Given the description of an element on the screen output the (x, y) to click on. 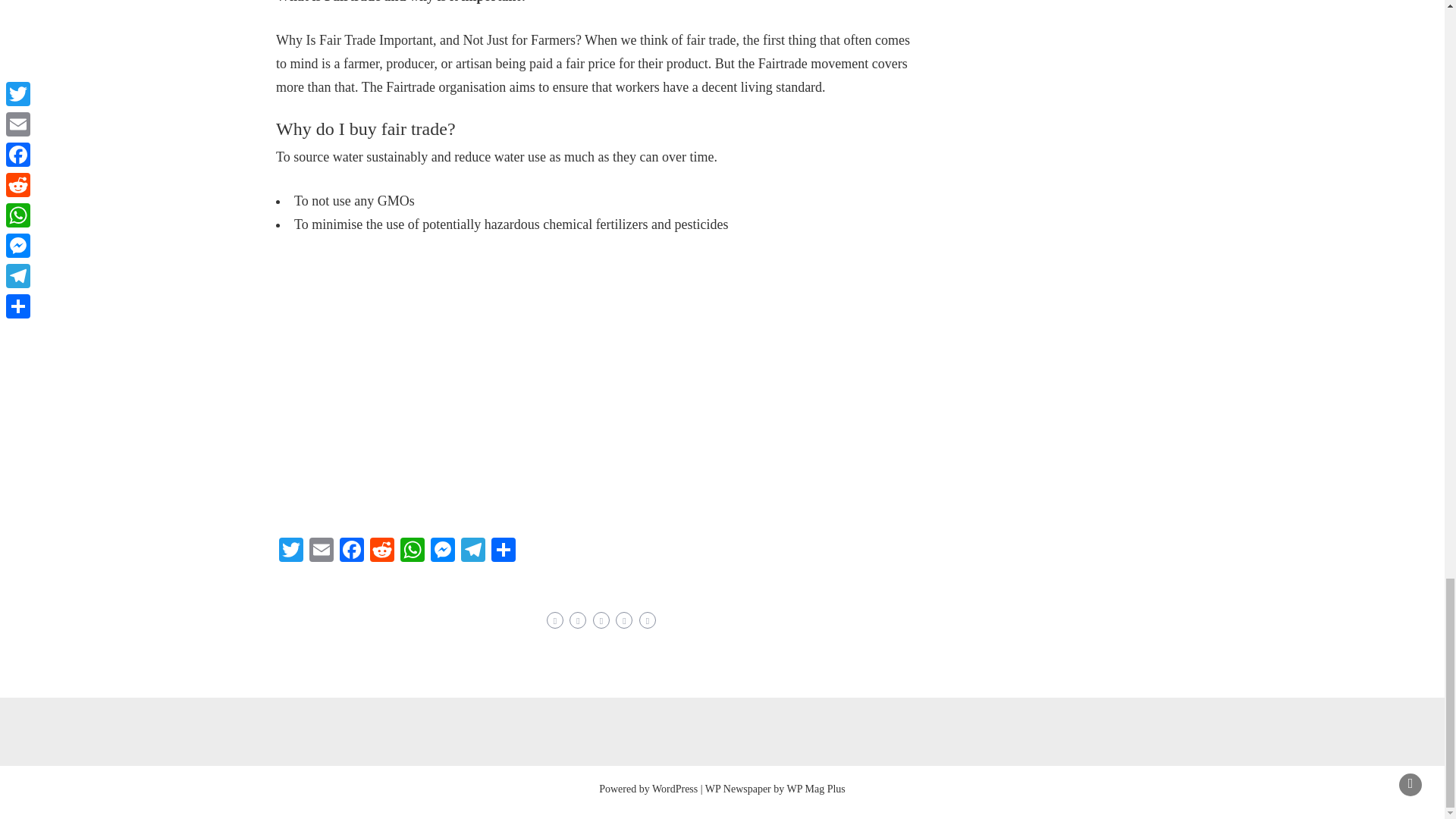
What is Fairtrade? (518, 372)
WhatsApp (412, 551)
Twitter (290, 551)
Telegram (472, 551)
Reddit (381, 551)
Email (320, 551)
WhatsApp (412, 551)
Email (320, 551)
Twitter (290, 551)
Messenger (443, 551)
Reddit (381, 551)
Facebook (351, 551)
Facebook (351, 551)
Share (502, 551)
Telegram (472, 551)
